Given the description of an element on the screen output the (x, y) to click on. 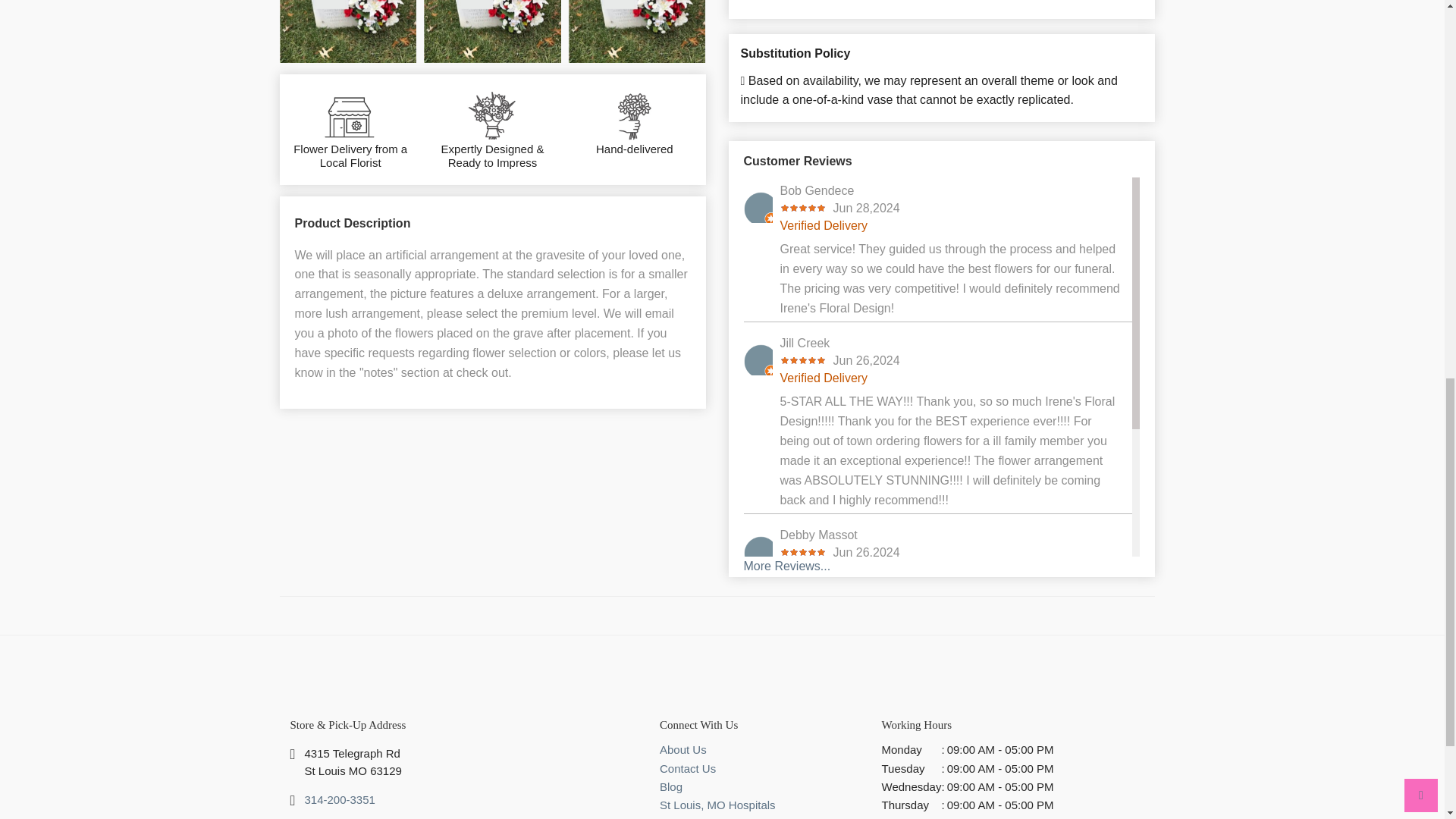
Artificial Grave Floral Arrangement Flower Arrangement (347, 31)
Artificial Grave Floral Arrangement Flower Arrangement (637, 31)
Artificial Grave Floral Arrangement Flower Arrangement (491, 31)
